Given the description of an element on the screen output the (x, y) to click on. 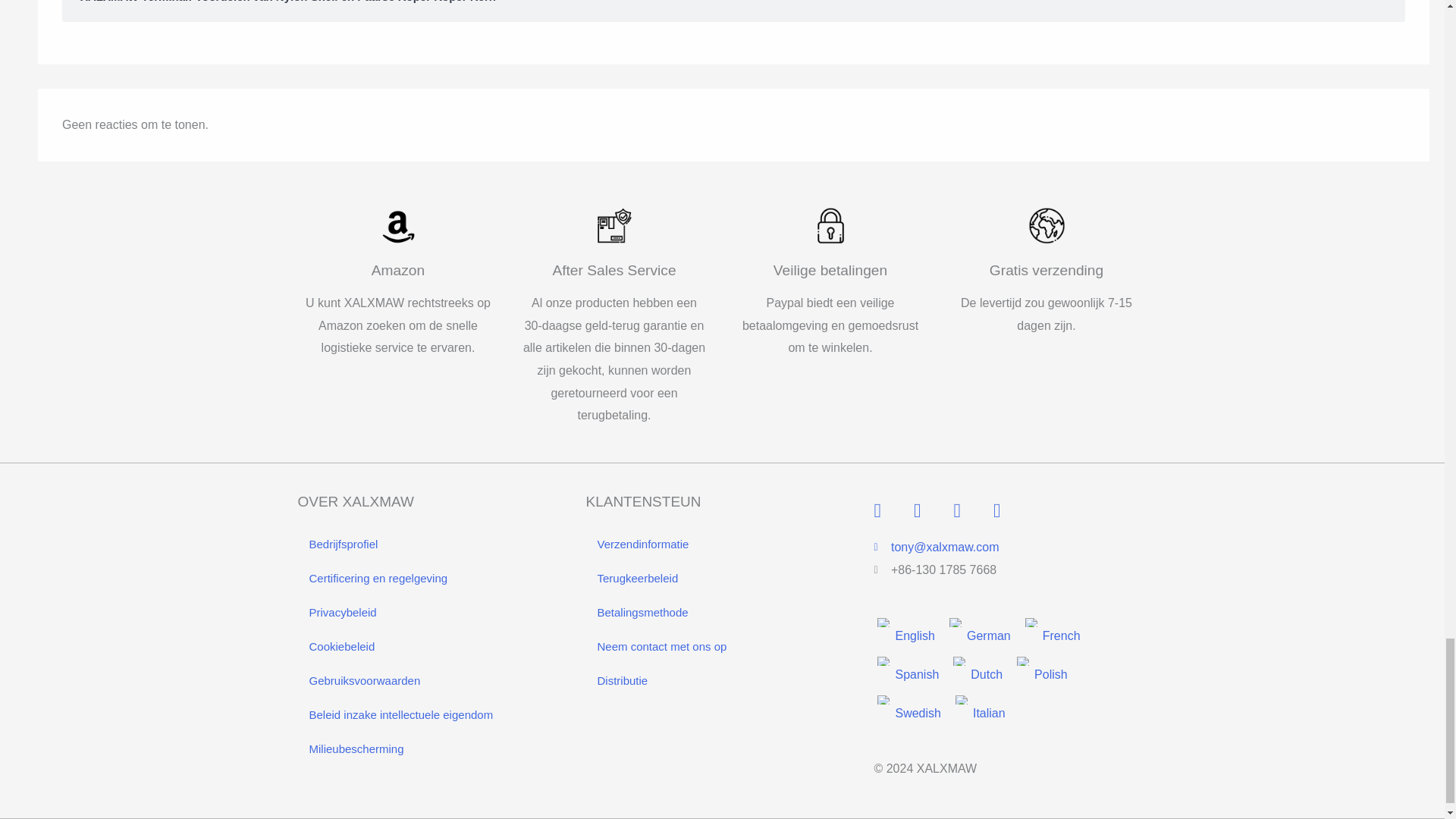
English (884, 622)
German (955, 622)
French (1032, 622)
Dutch (959, 660)
Swedish (884, 699)
Polish (1023, 660)
Spanish (884, 660)
Italian (962, 699)
